Given the description of an element on the screen output the (x, y) to click on. 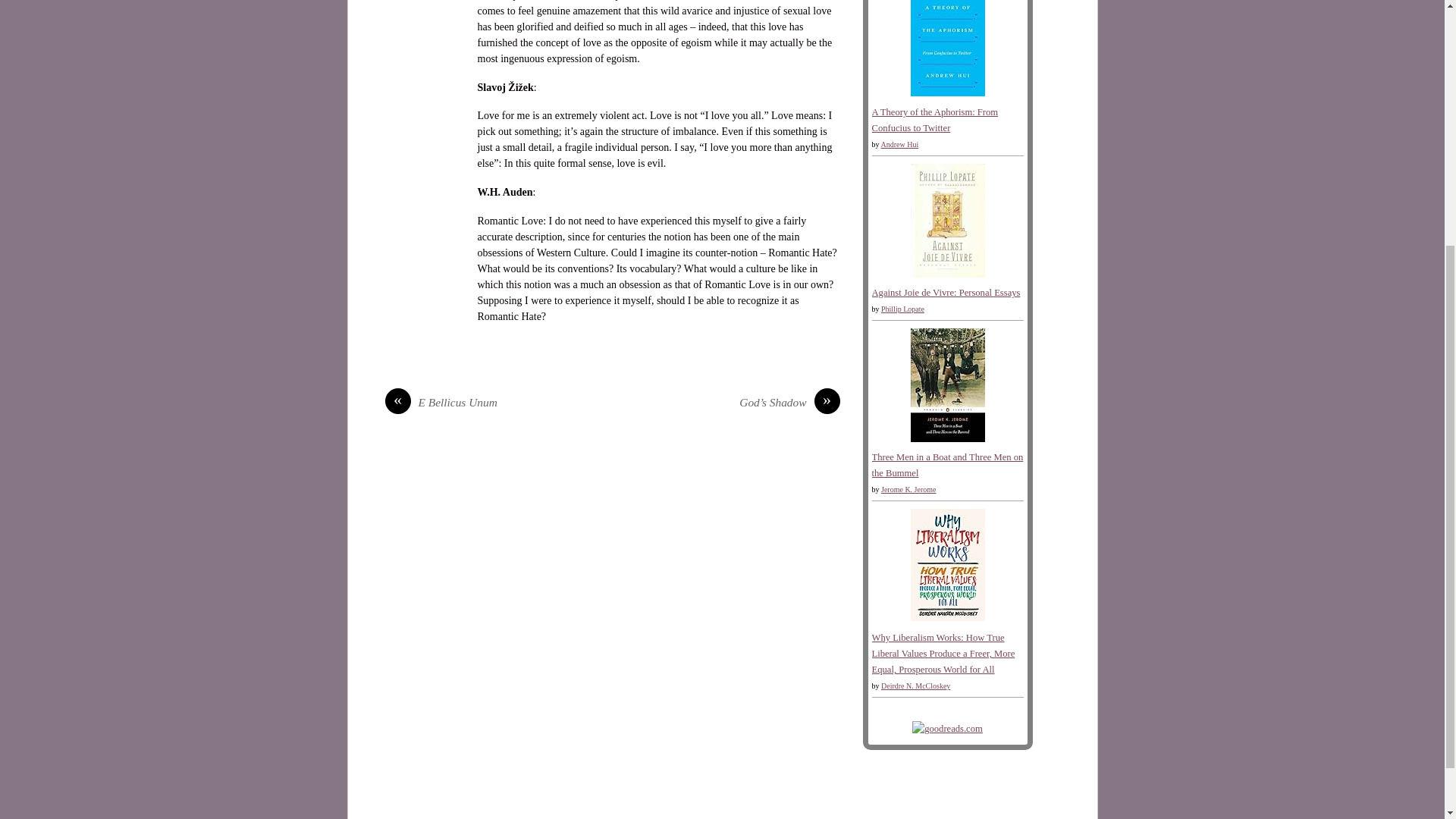
Three Men in a Boat and Three Men on the Bummel (947, 439)
A Theory of the Aphorism: From Confucius to Twitter (935, 120)
Phillip Lopate (902, 308)
Jerome K. Jerome (908, 489)
Three Men in a Boat and Three Men on the Bummel (947, 465)
Against Joie de Vivre: Personal Essays (947, 274)
A Theory of the Aphorism: From Confucius to Twitter (947, 92)
Against Joie de Vivre: Personal Essays (946, 292)
Deirdre N. McCloskey (915, 685)
Andrew Hui (899, 144)
